Given the description of an element on the screen output the (x, y) to click on. 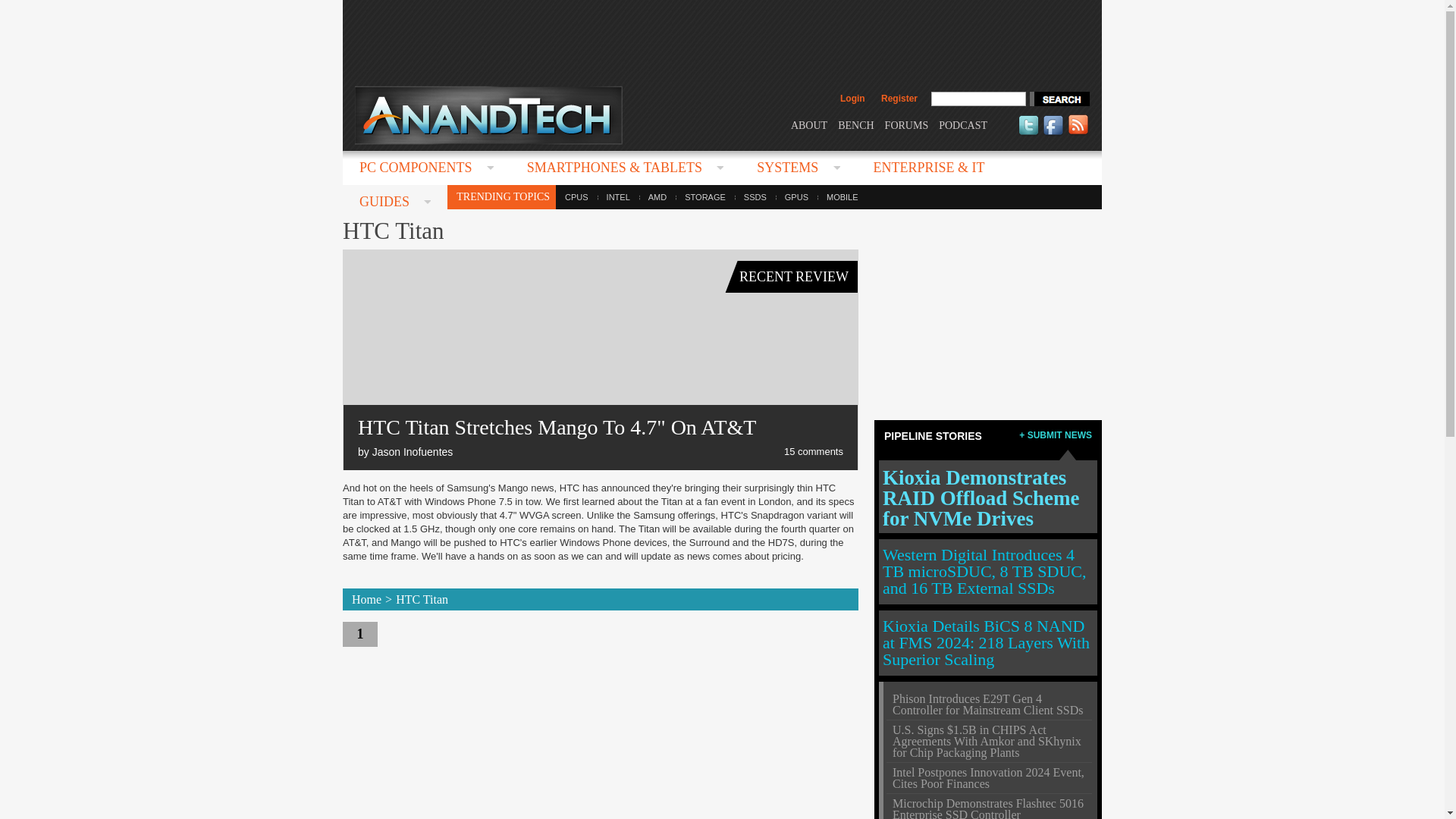
Login (852, 98)
BENCH (855, 125)
search (1059, 98)
search (1059, 98)
ABOUT (808, 125)
search (1059, 98)
Register (898, 98)
FORUMS (906, 125)
PODCAST (963, 125)
